Given the description of an element on the screen output the (x, y) to click on. 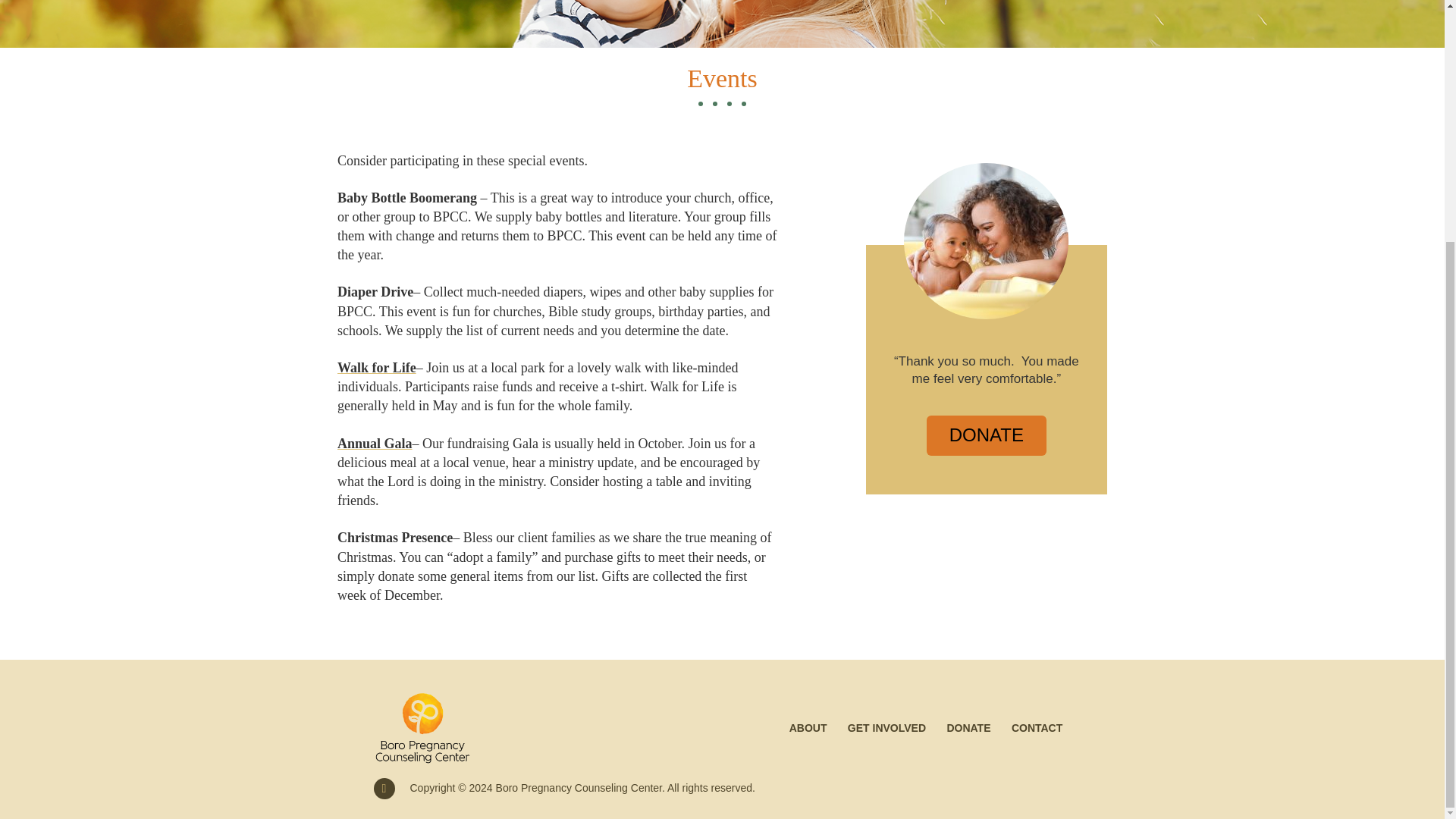
GET INVOLVED (887, 728)
Walk for Life (376, 367)
CONTACT (1037, 728)
ABOUT (807, 728)
DONATE (967, 728)
DONATE (986, 435)
Annual Gala (374, 443)
